Given the description of an element on the screen output the (x, y) to click on. 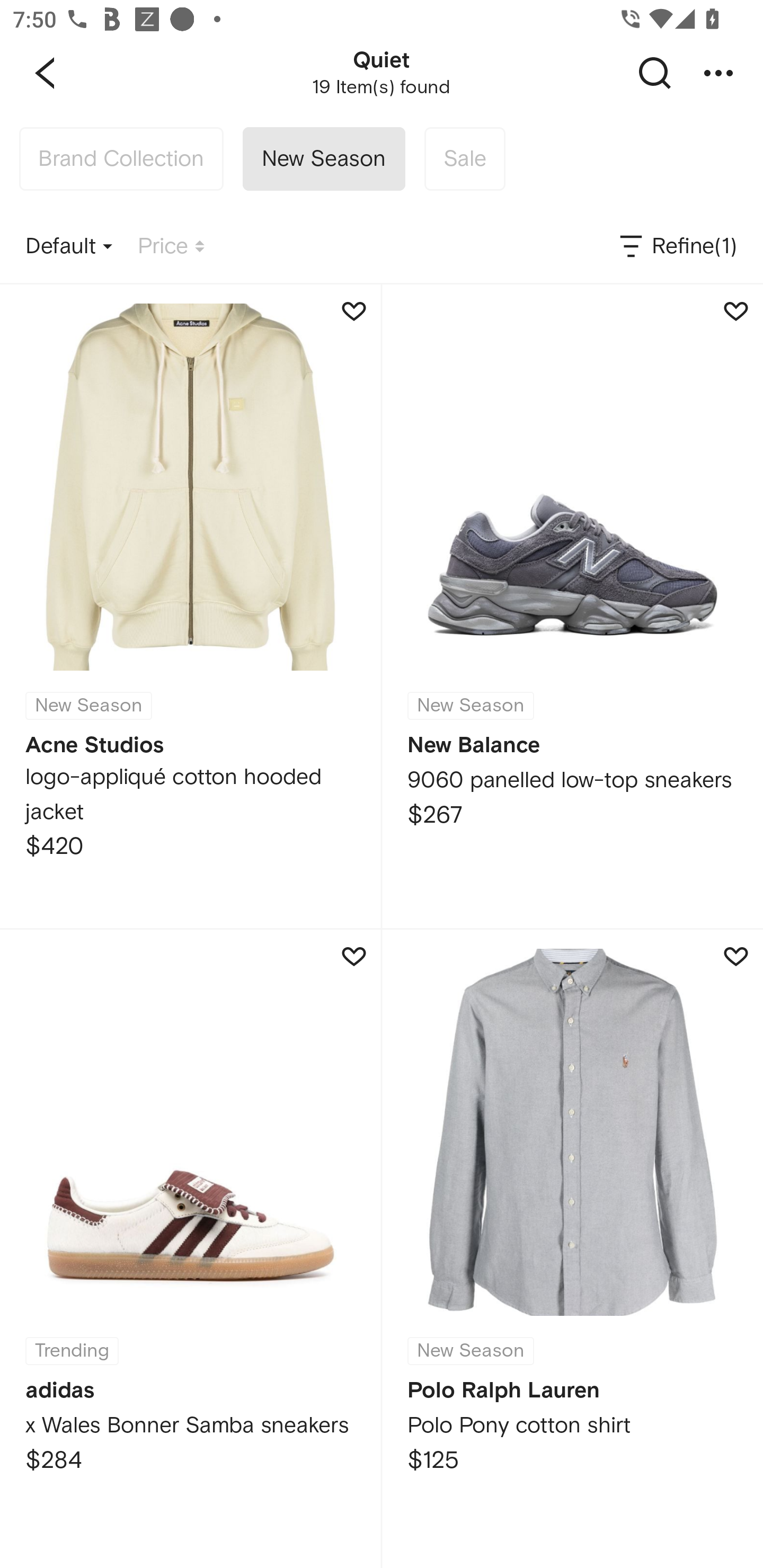
Brand Collection (121, 158)
New Season (323, 158)
Sale (464, 158)
Default (68, 246)
Price (171, 246)
Refine(1) (677, 246)
Trending adidas x Wales Bonner Samba sneakers $284 (190, 1248)
